Given the description of an element on the screen output the (x, y) to click on. 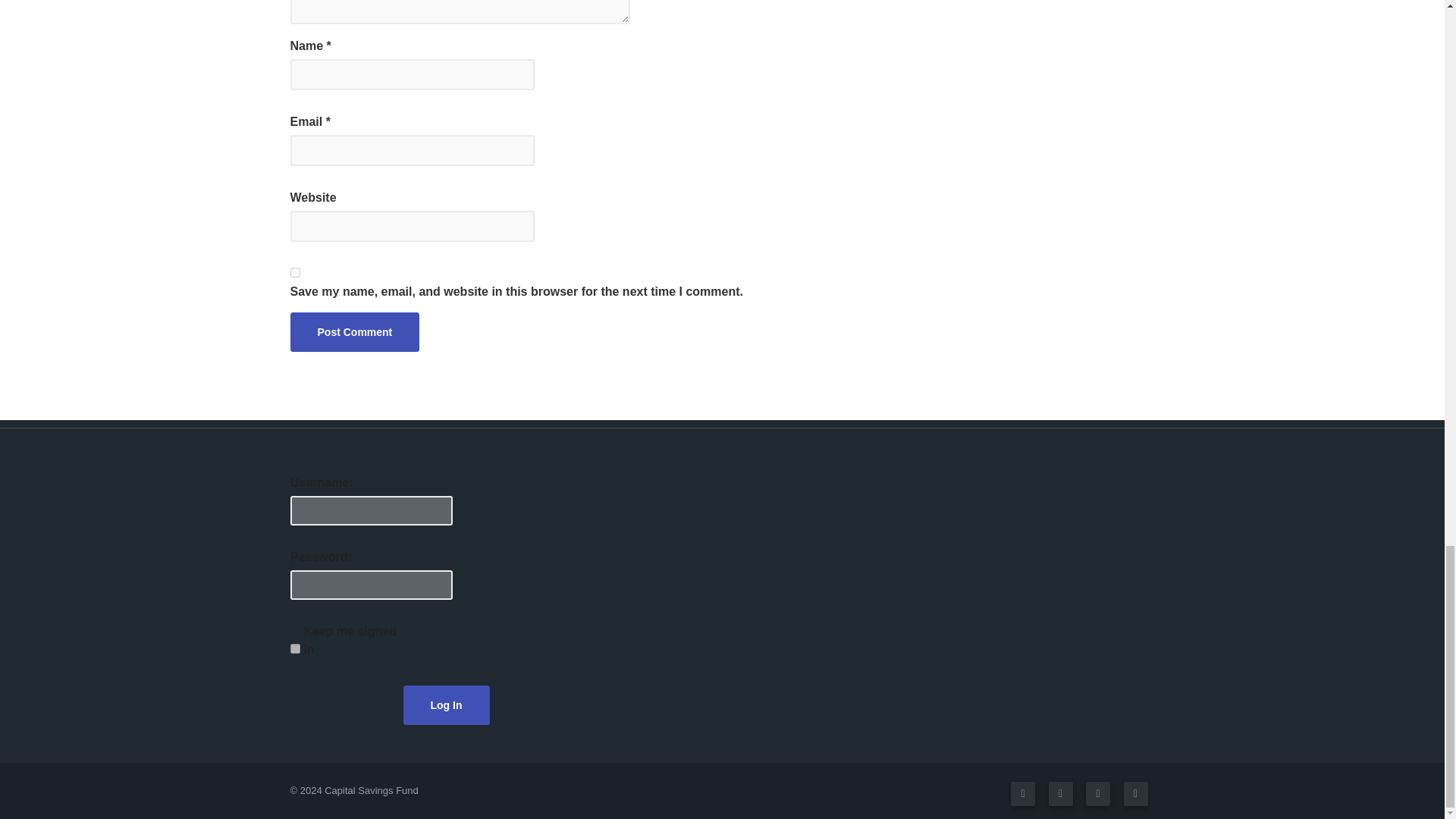
Log In (446, 704)
Post Comment (354, 332)
yes (294, 272)
forever (294, 648)
Post Comment (354, 332)
